Given the description of an element on the screen output the (x, y) to click on. 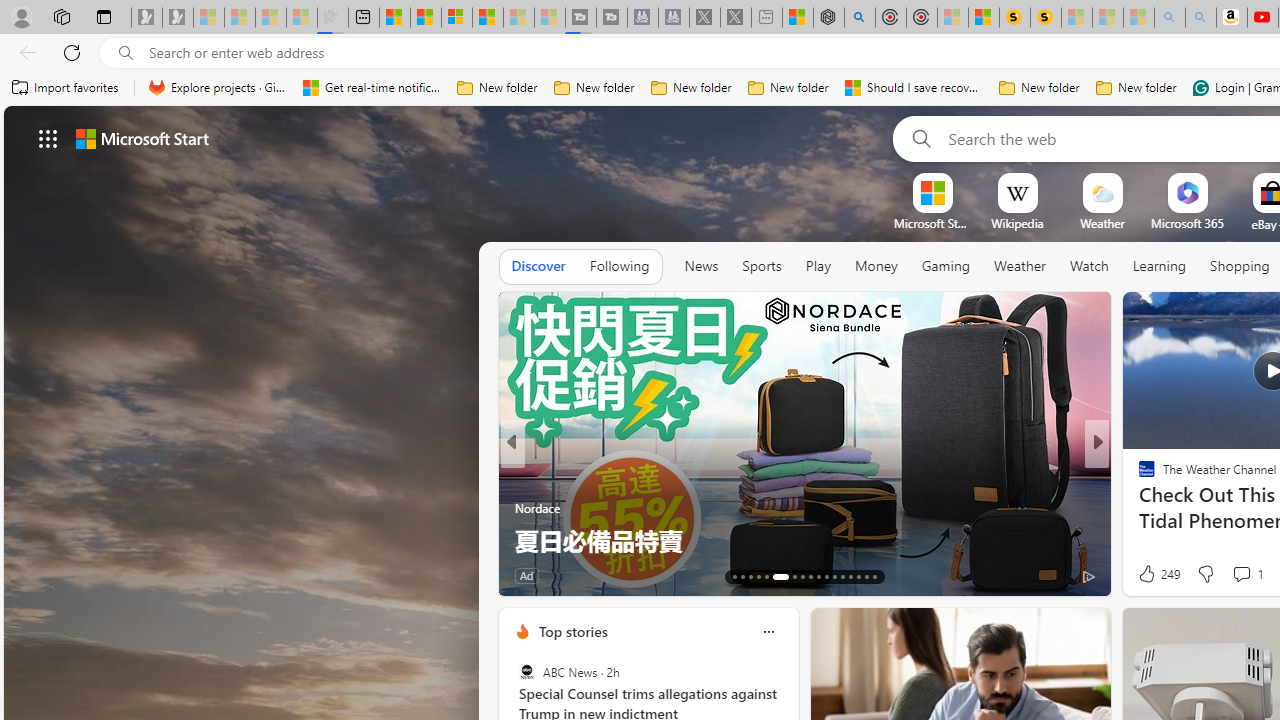
View comments 8 Comment (613, 575)
